Given the description of an element on the screen output the (x, y) to click on. 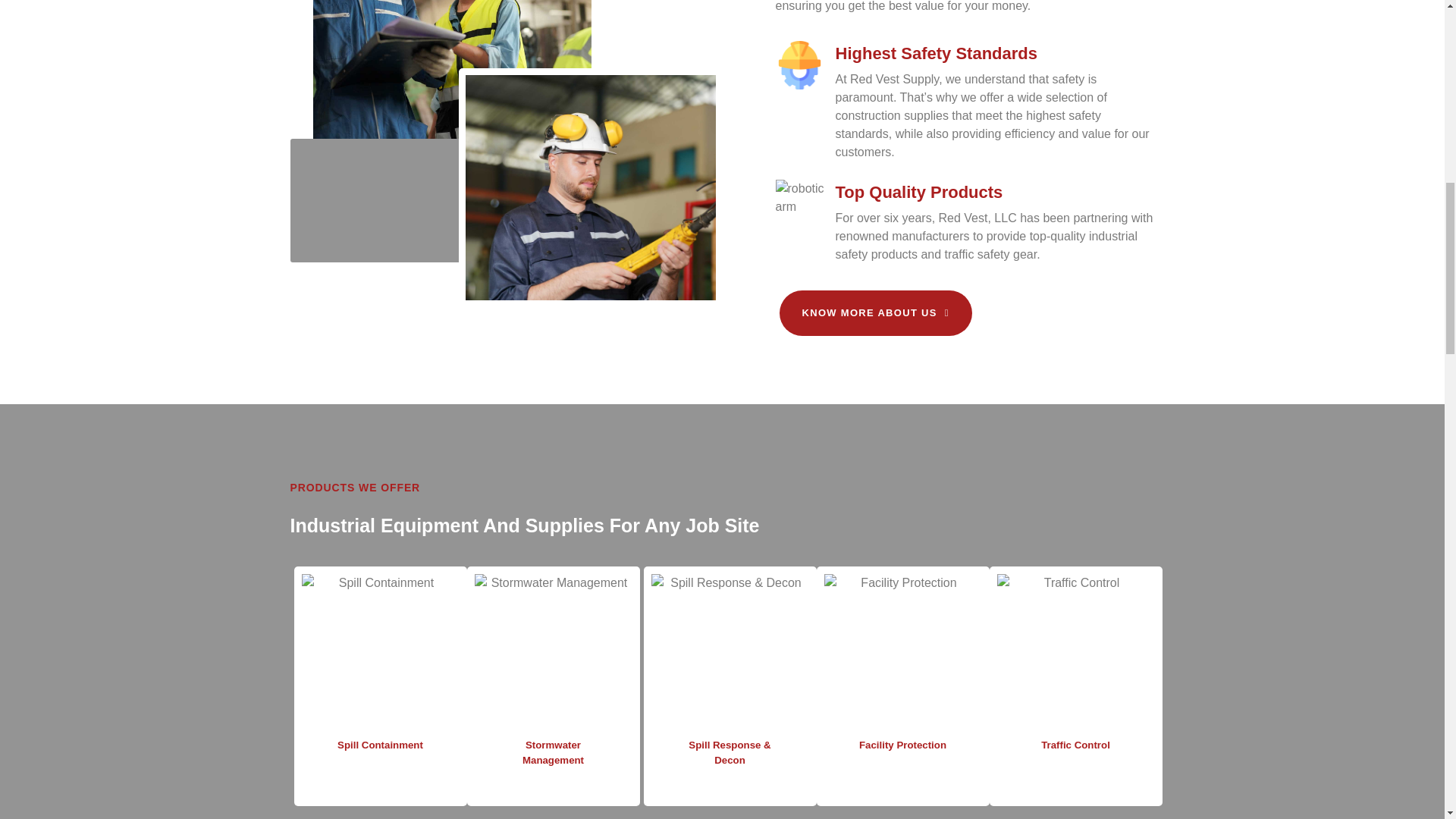
Home 6 (552, 653)
KNOW MORE ABOUT US (875, 312)
Home 5 (380, 653)
Home 7 (729, 653)
Home 2 (590, 187)
Home 8 (902, 653)
Home 4 (799, 204)
Home 1 (452, 74)
Home 9 (1074, 653)
Home 3 (798, 64)
